Given the description of an element on the screen output the (x, y) to click on. 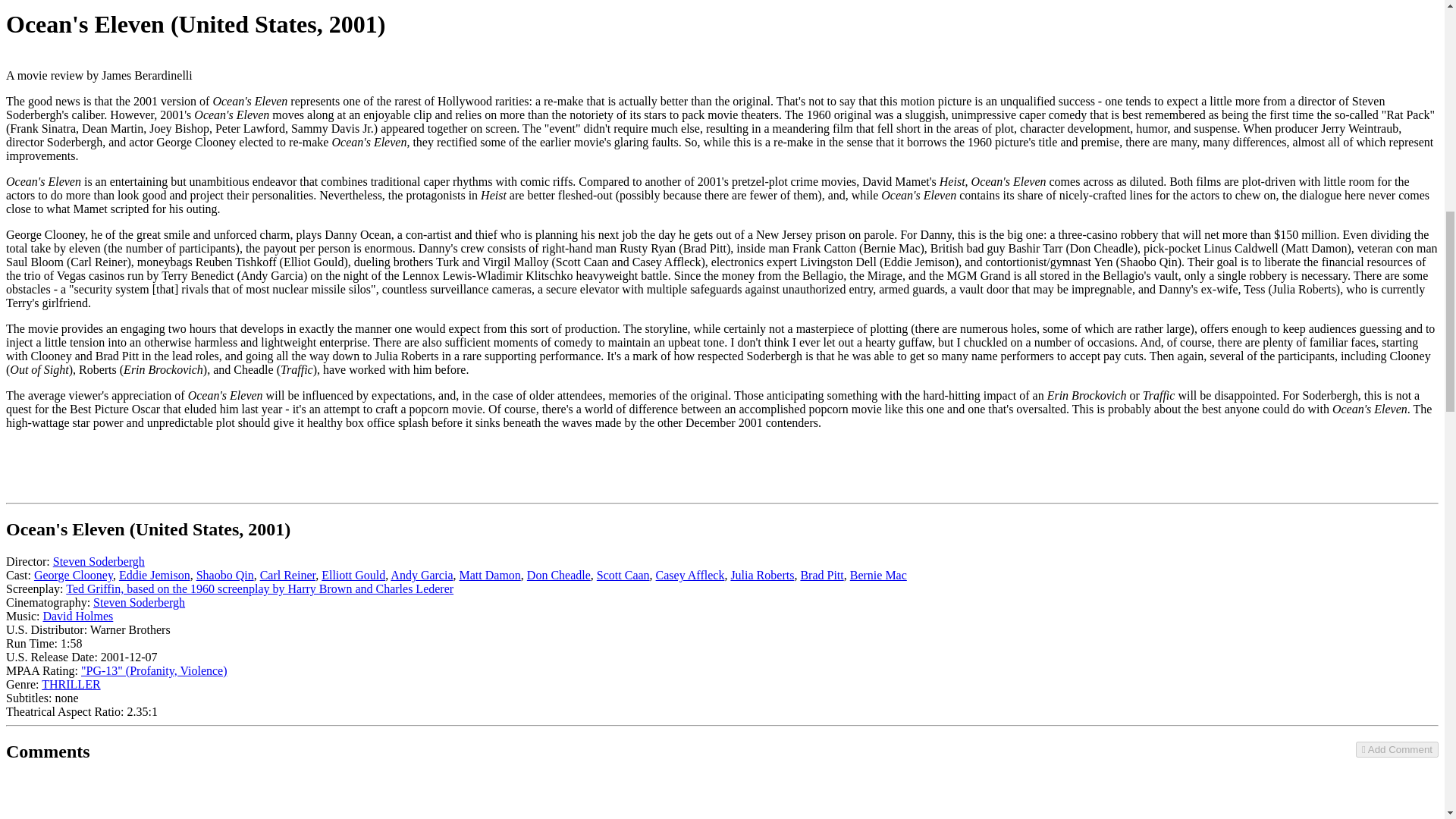
View all reviews for movies starring Don Cheadle (559, 574)
View all reviews for movies starring Casey Affleck (690, 574)
Steven Soderbergh (98, 561)
George Clooney (73, 574)
Bernie Mac (878, 574)
View all reviews for movies directed by Steven Soderbergh (98, 561)
Andy Garcia (421, 574)
Shaobo Qin (224, 574)
View all reviews for movies starring Carl Reiner (287, 574)
